Given the description of an element on the screen output the (x, y) to click on. 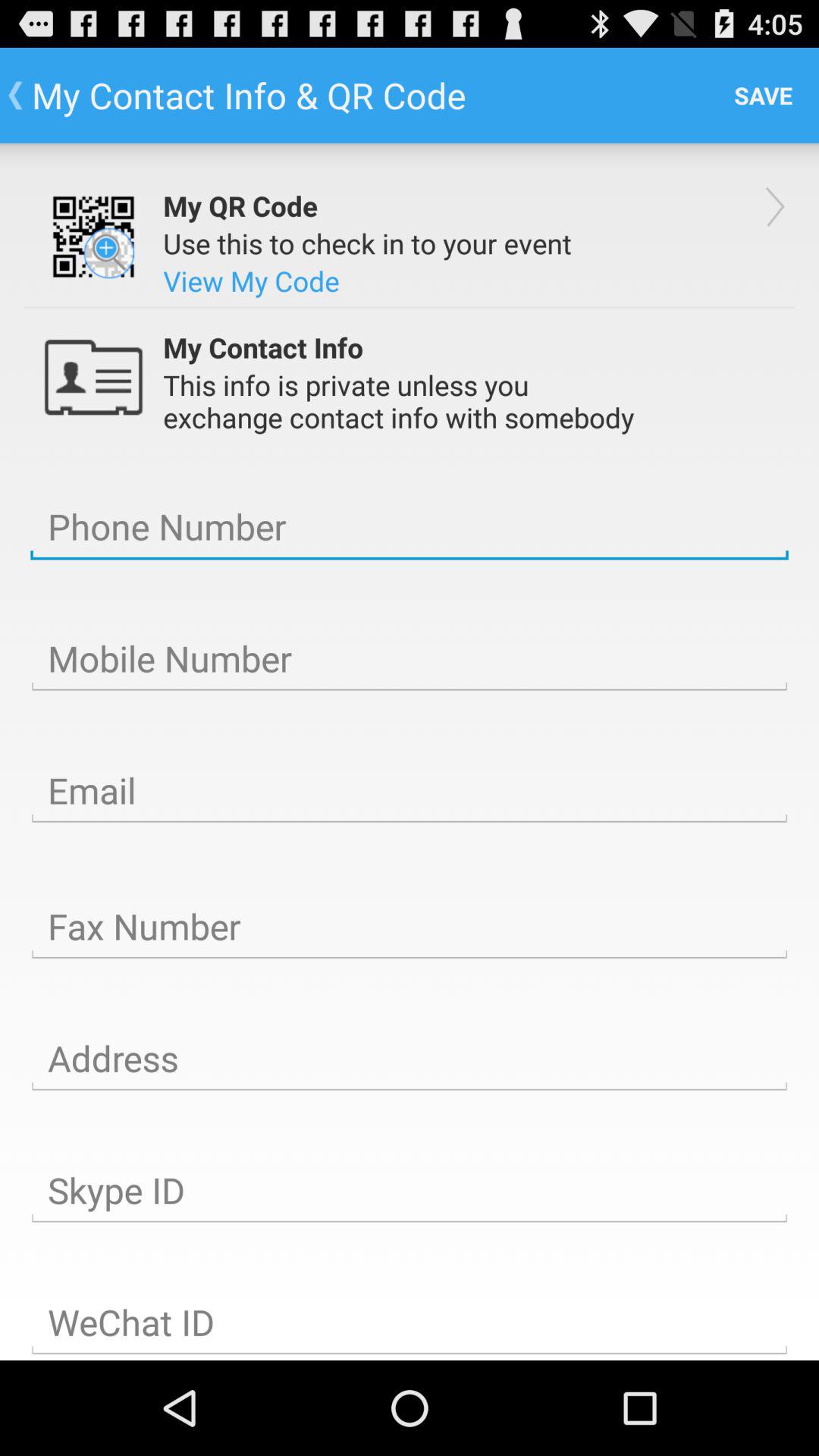
type the address (409, 1058)
